Given the description of an element on the screen output the (x, y) to click on. 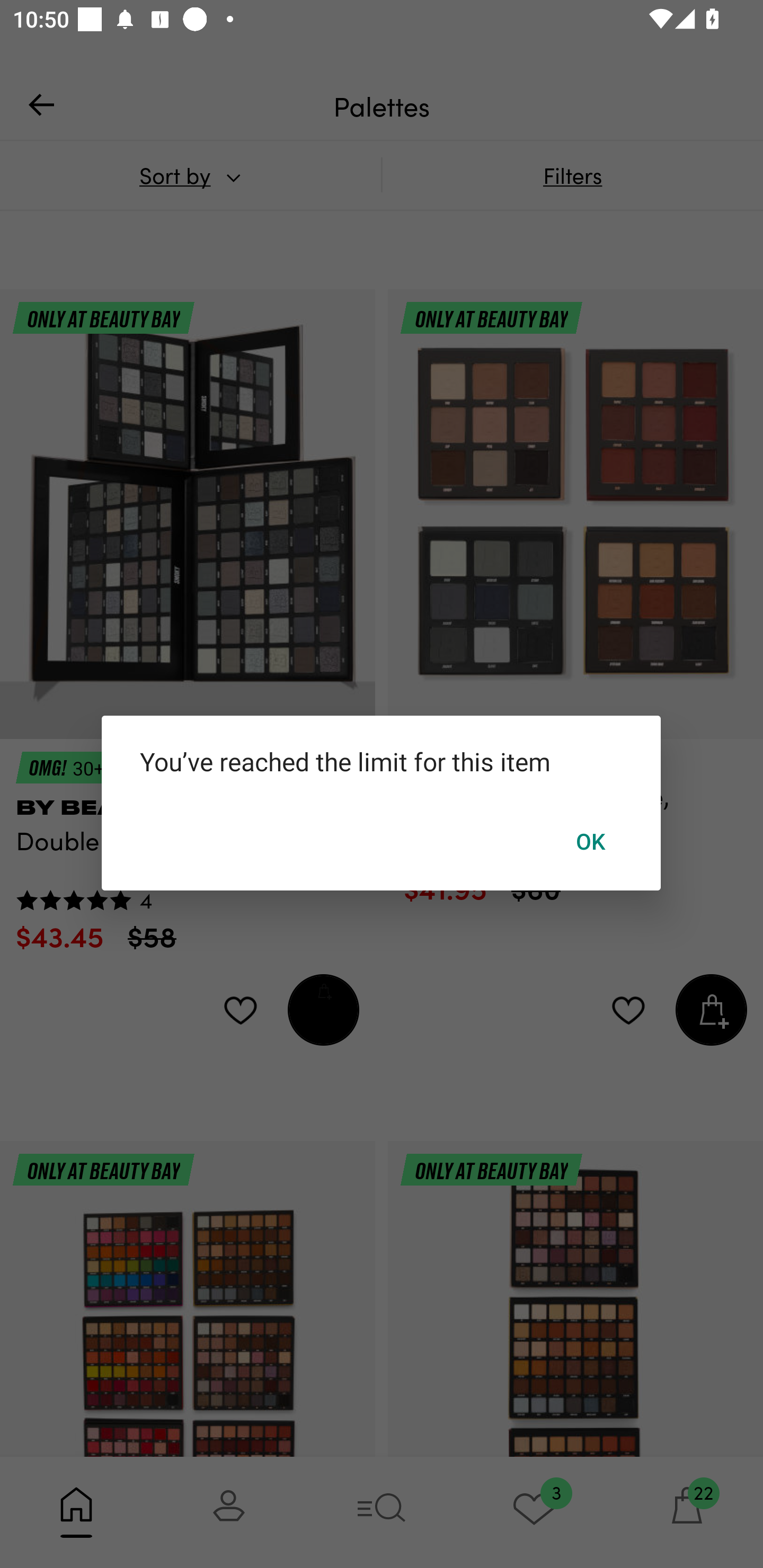
OK (590, 841)
